Given the description of an element on the screen output the (x, y) to click on. 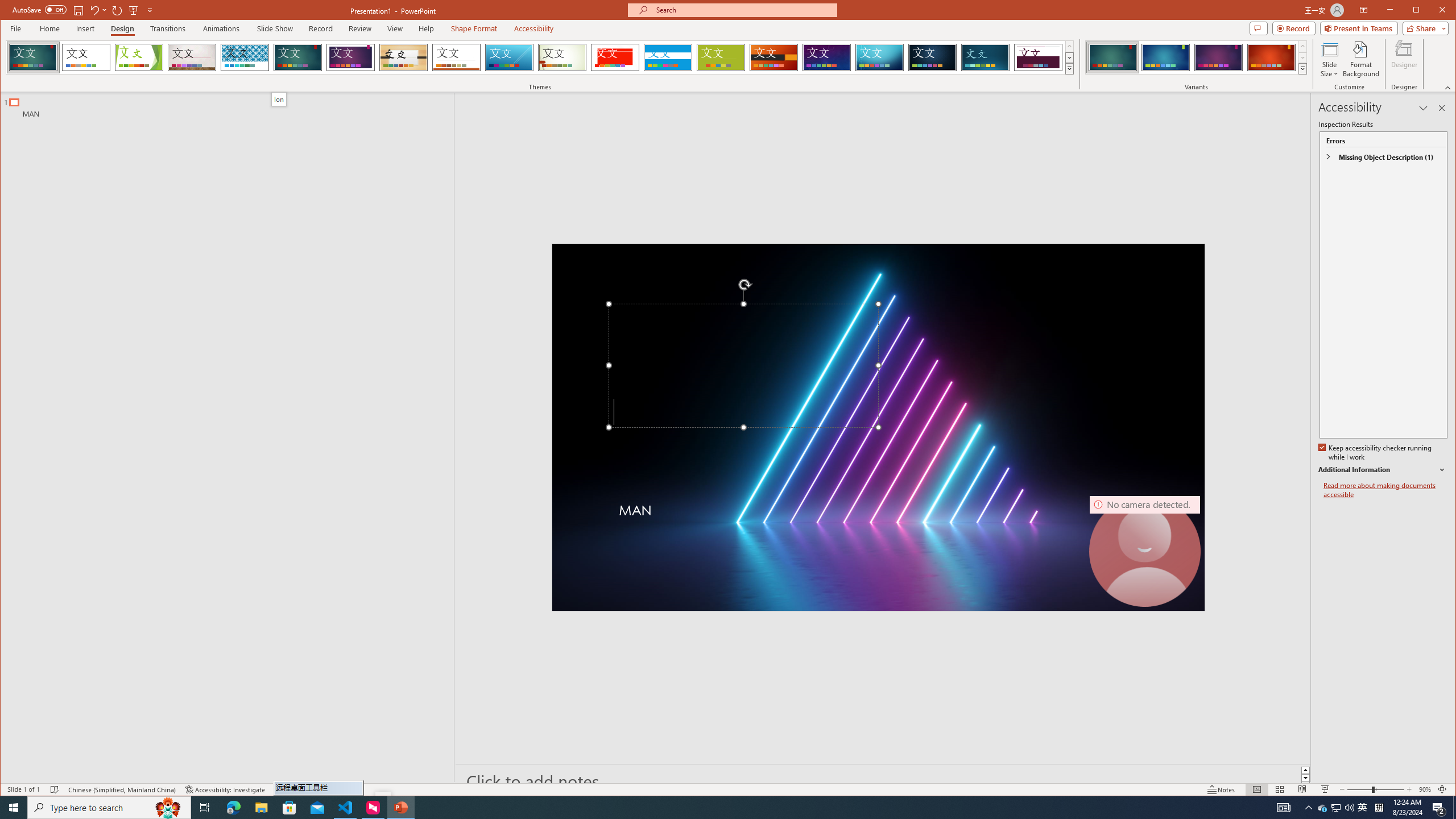
Accessibility (534, 28)
Depth (985, 57)
Outline (231, 104)
Visual Studio Code - 1 running window (345, 807)
Ion (297, 57)
Start (13, 807)
Reading View (1302, 789)
Maximize (1432, 11)
Redo (117, 9)
Gallery (191, 57)
Ion Boardroom (350, 57)
AutoSave (38, 9)
Zoom to Fit  (1441, 789)
